Given the description of an element on the screen output the (x, y) to click on. 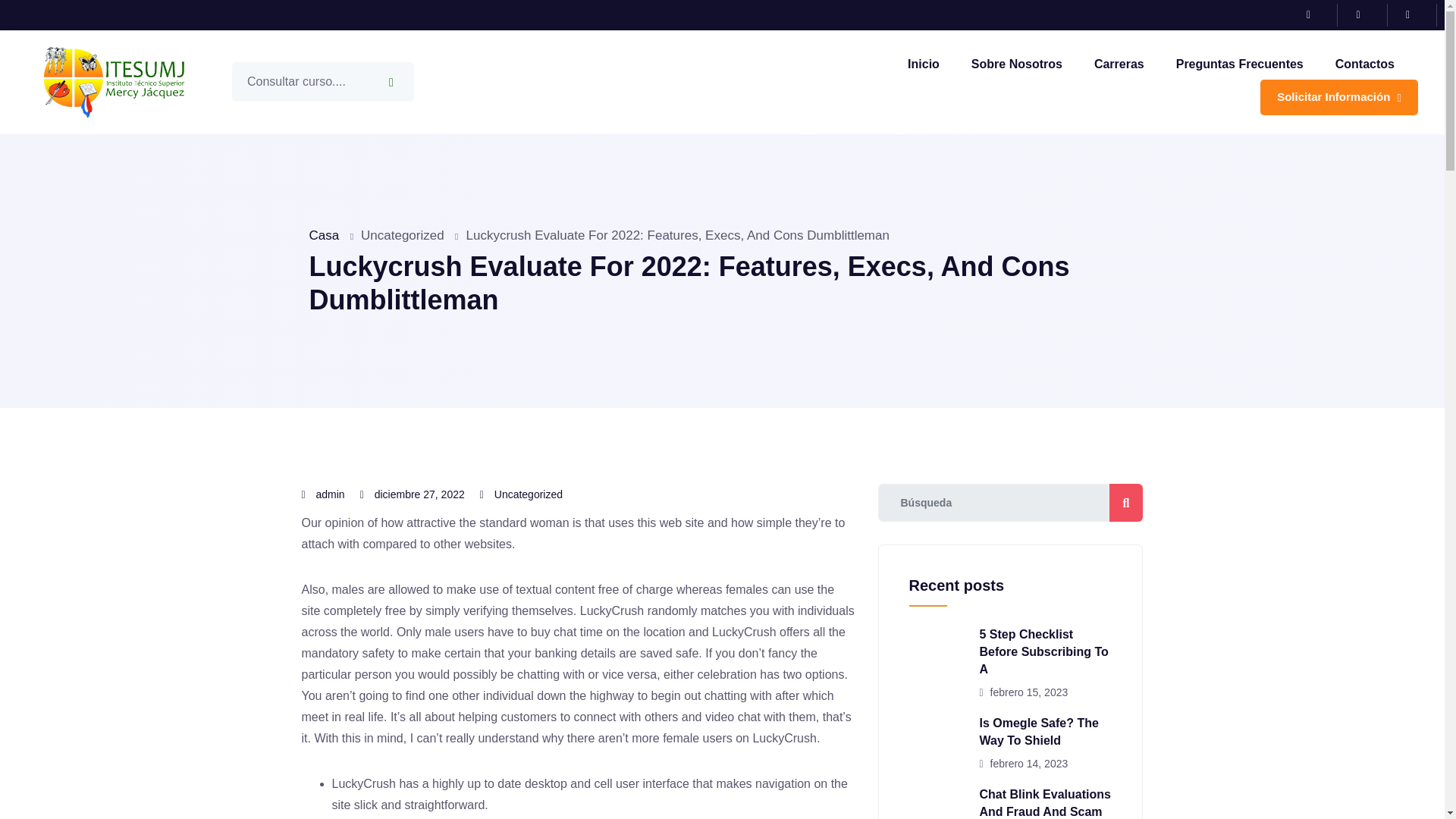
Preguntas Frecuentes (1239, 64)
Contactos (1364, 64)
Inicio (922, 64)
Uncategorized (528, 494)
Chat Blink Evaluations And Fraud And Scam (1044, 802)
Casa (323, 235)
admin (330, 494)
5 Step Checklist Before Subscribing To A (1043, 651)
Carreras (1118, 64)
Is Omegle Safe? The Way To Shield (1039, 731)
